Given the description of an element on the screen output the (x, y) to click on. 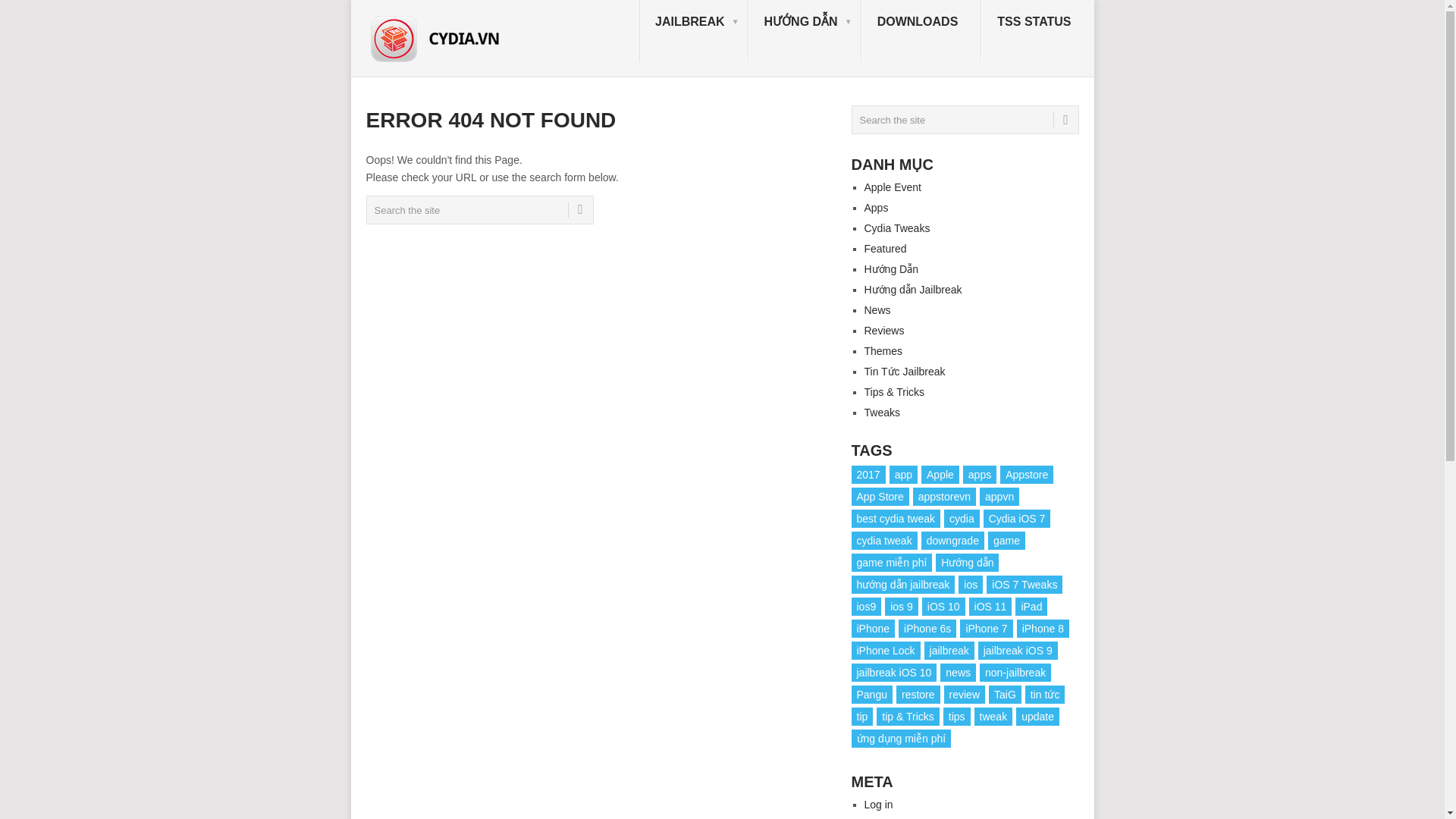
best cydia tweak (895, 518)
Reviews (884, 330)
Featured posts (885, 248)
News (877, 309)
2017 (867, 475)
Cydia iOS 7 (1017, 518)
Tweaks (881, 412)
Apps (876, 207)
Appstore (1026, 475)
cydia tweak (883, 540)
